Given the description of an element on the screen output the (x, y) to click on. 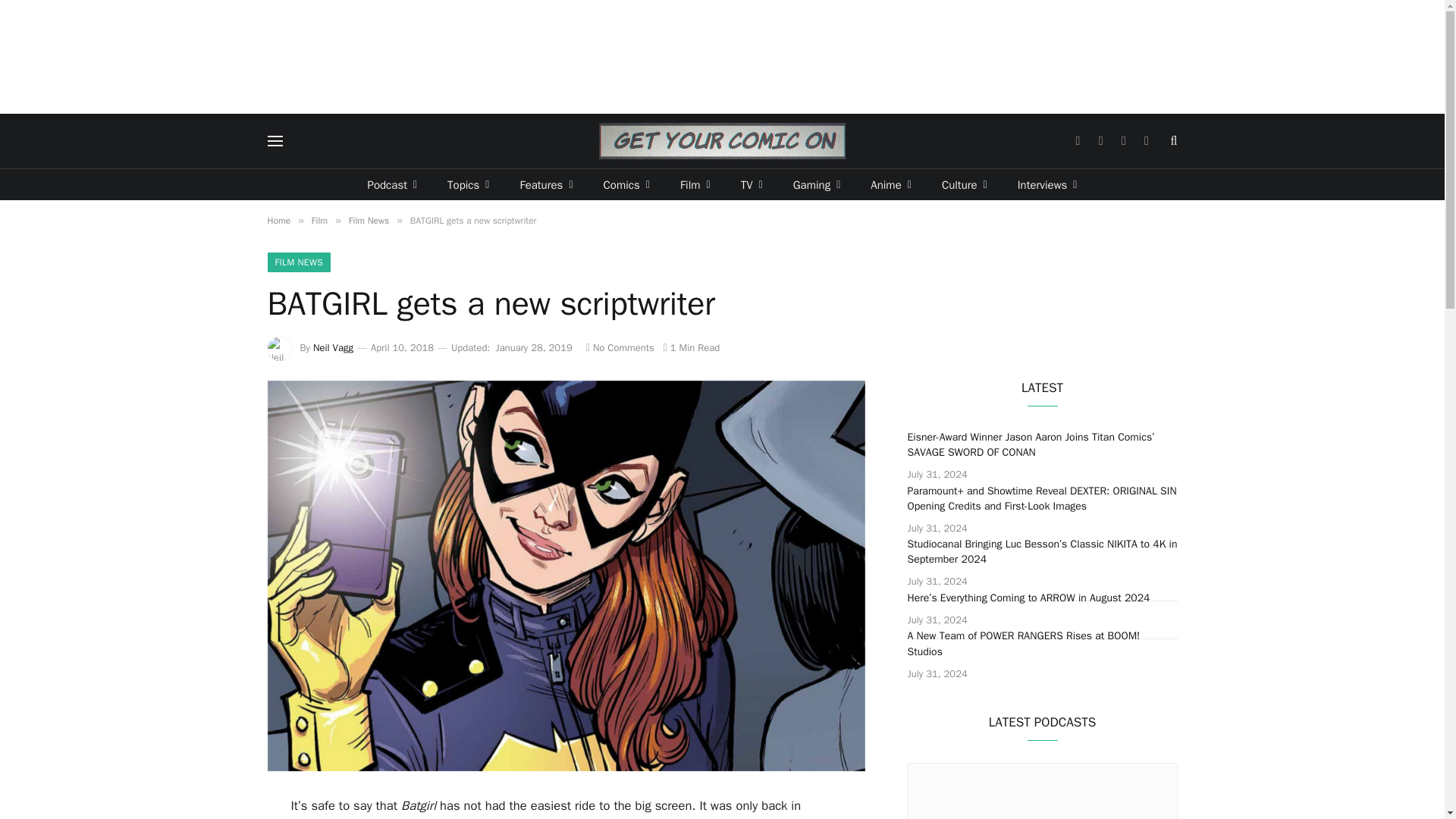
Features (545, 183)
Get Your Comic On (721, 140)
Podcast (392, 183)
Advertisement (722, 56)
Topics (467, 183)
